Given the description of an element on the screen output the (x, y) to click on. 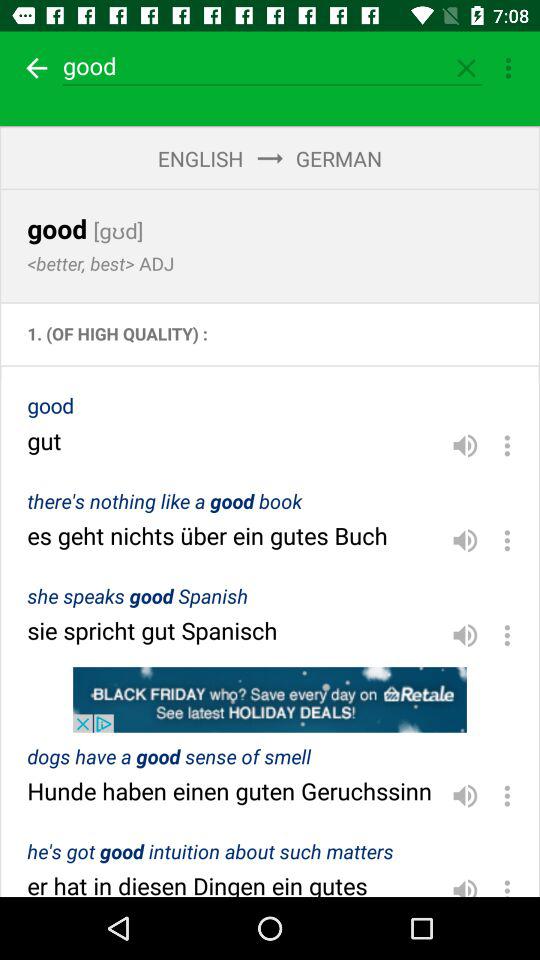
more options (508, 68)
